Given the description of an element on the screen output the (x, y) to click on. 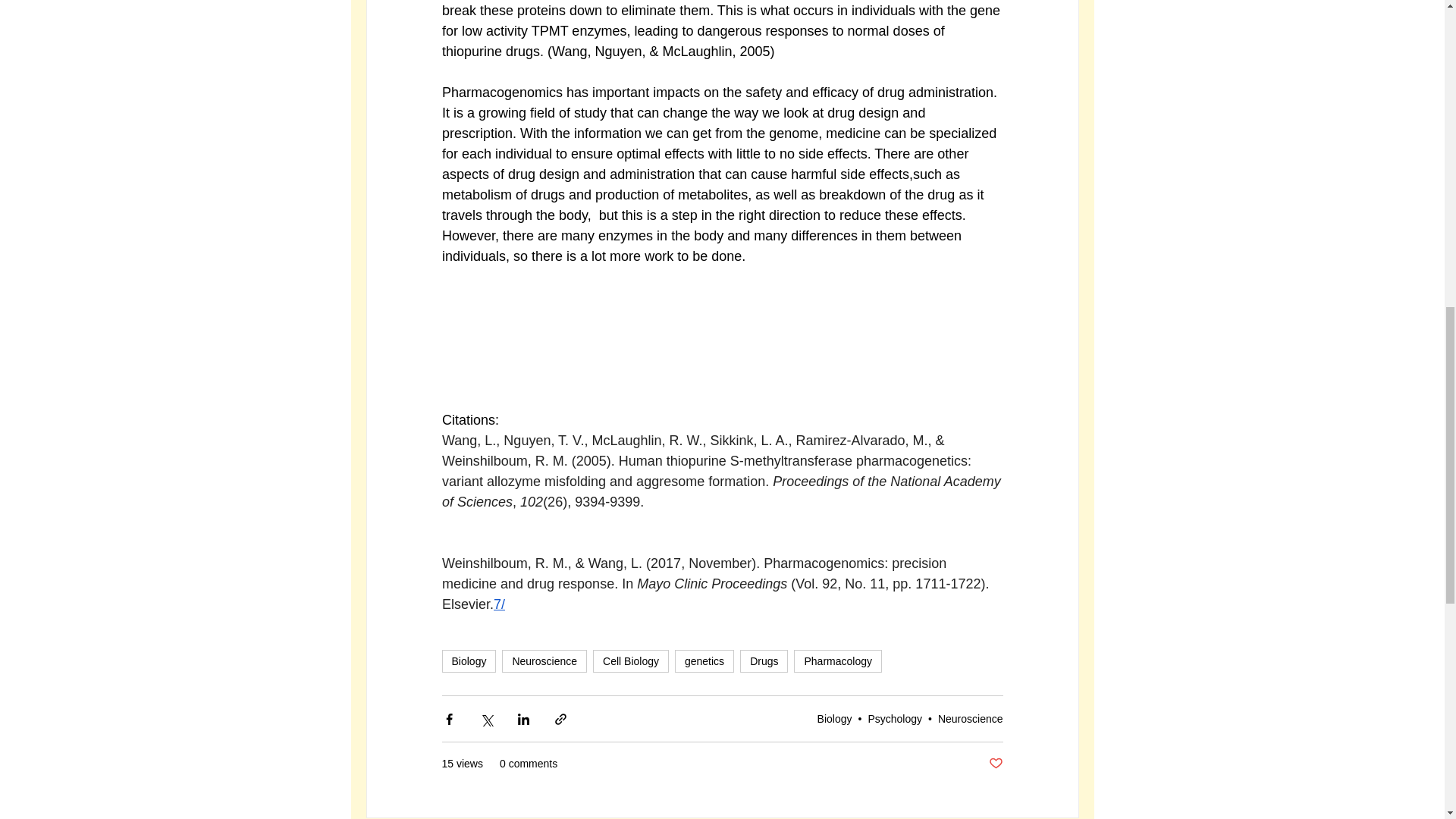
genetics (704, 661)
Drugs (763, 661)
Cell Biology (630, 661)
Pharmacology (837, 661)
Neuroscience (544, 661)
Biology (468, 661)
